Given the description of an element on the screen output the (x, y) to click on. 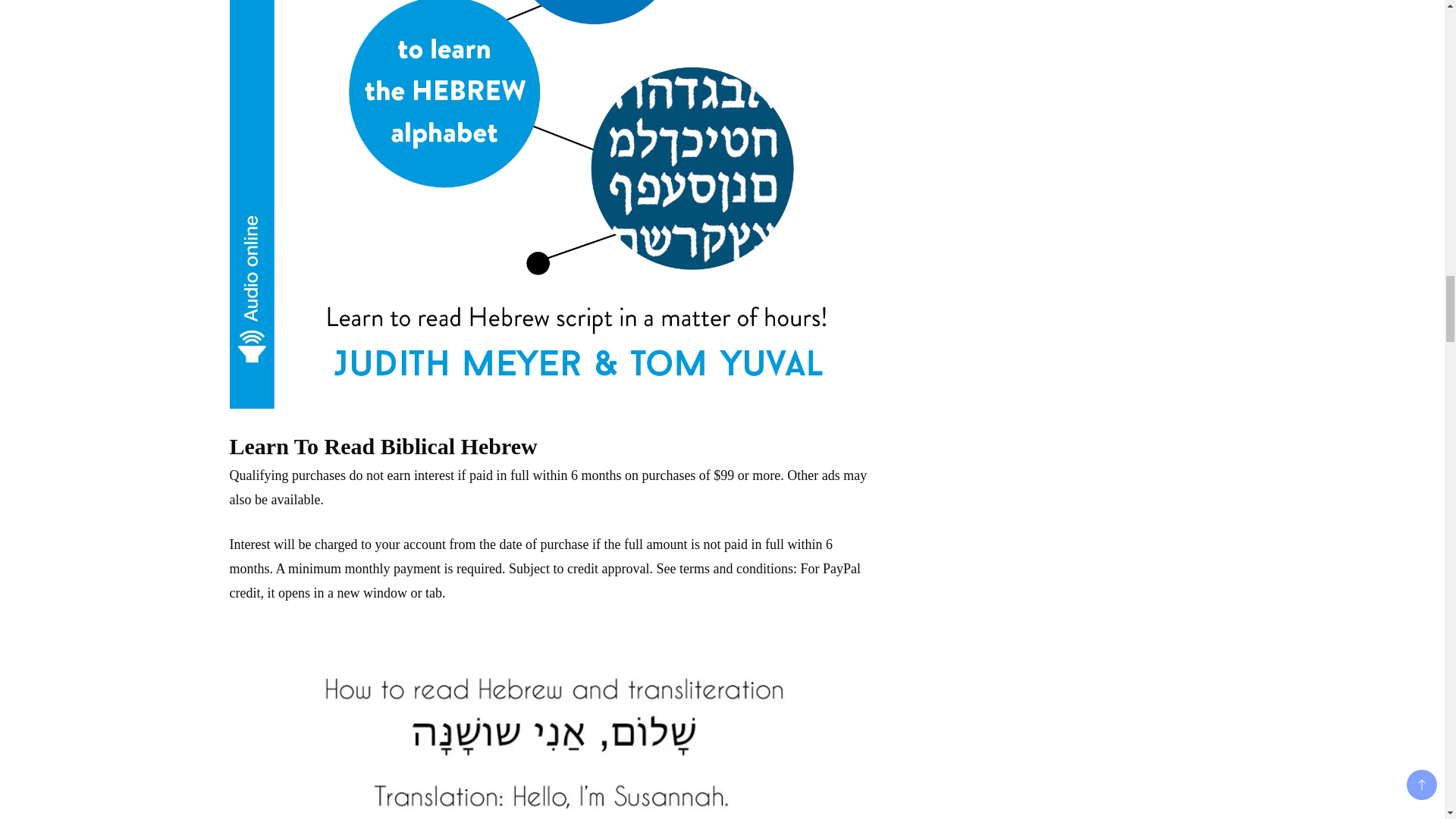
Learn To Read In Hebrew (553, 722)
